Given the description of an element on the screen output the (x, y) to click on. 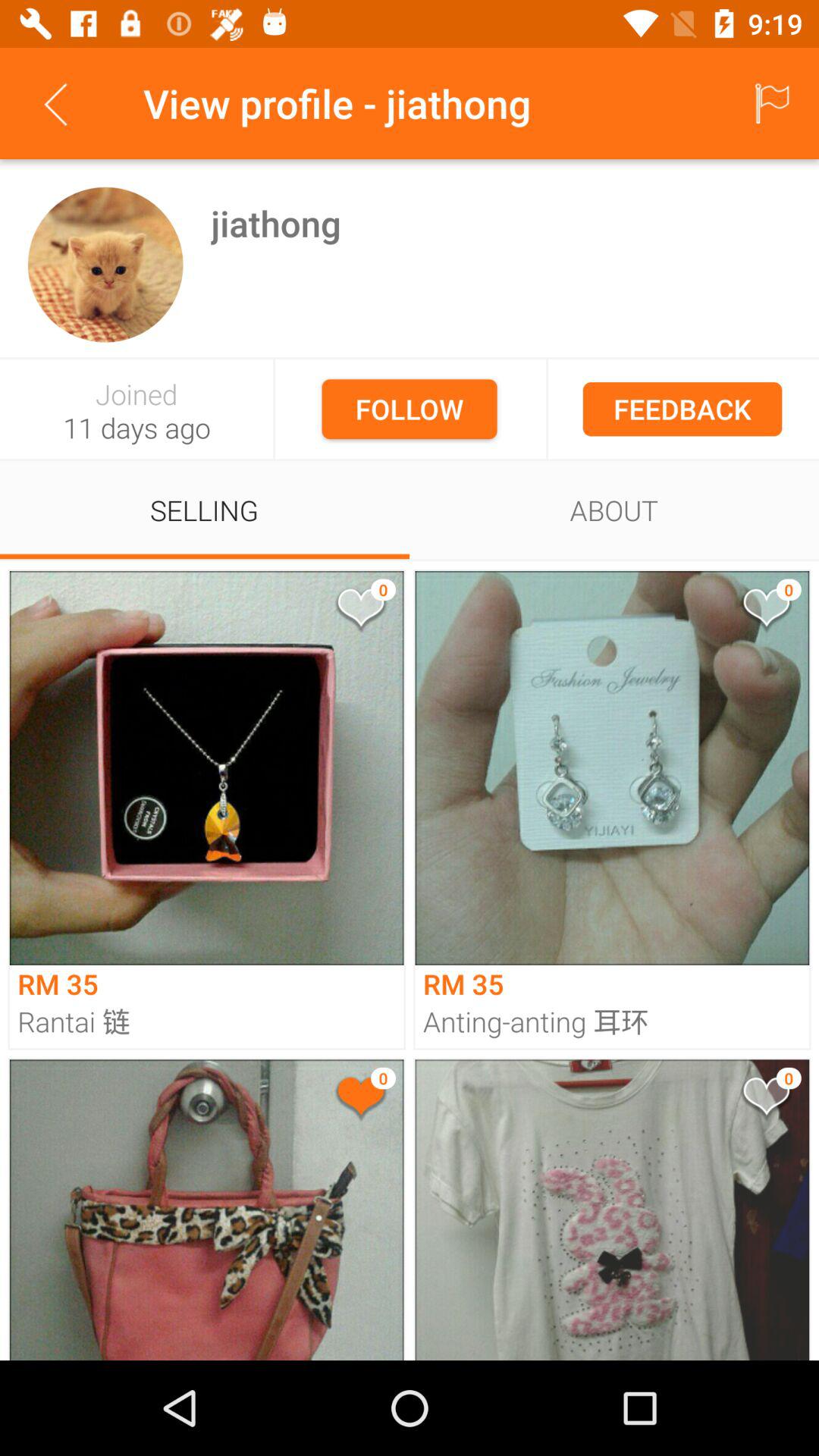
like the item (359, 610)
